Given the description of an element on the screen output the (x, y) to click on. 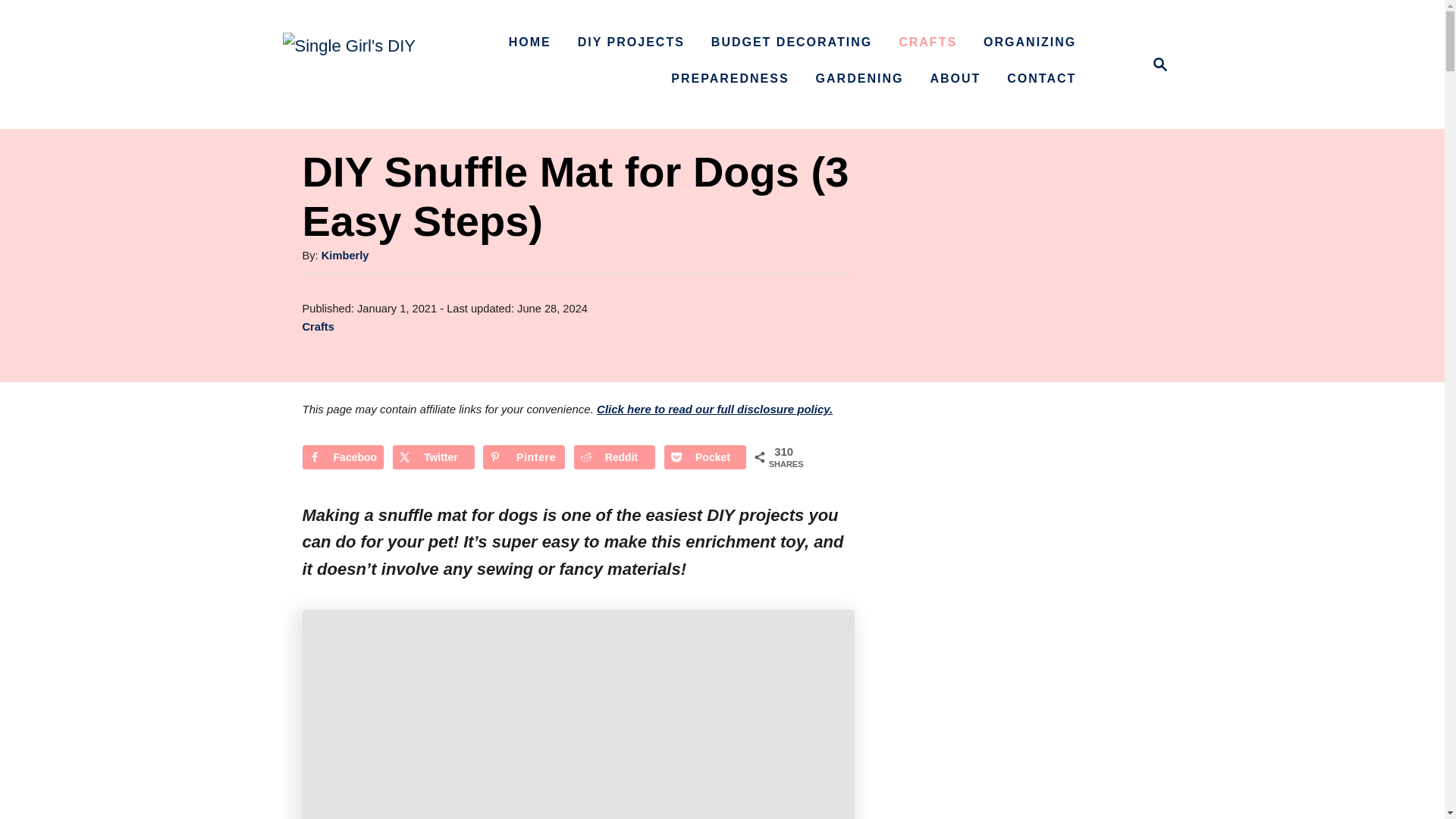
DIY PROJECTS (631, 41)
Share on Pocket (704, 457)
CONTACT (1040, 78)
ABOUT (954, 78)
Facebook (342, 457)
ORGANIZING (1029, 41)
Crafts (317, 326)
CRAFTS (927, 41)
Kimberly (1155, 64)
Magnifying Glass (345, 255)
Policies (1160, 64)
BUDGET DECORATING (714, 408)
PREPAREDNESS (791, 41)
Click here to read our full disclosure policy. (729, 78)
